Given the description of an element on the screen output the (x, y) to click on. 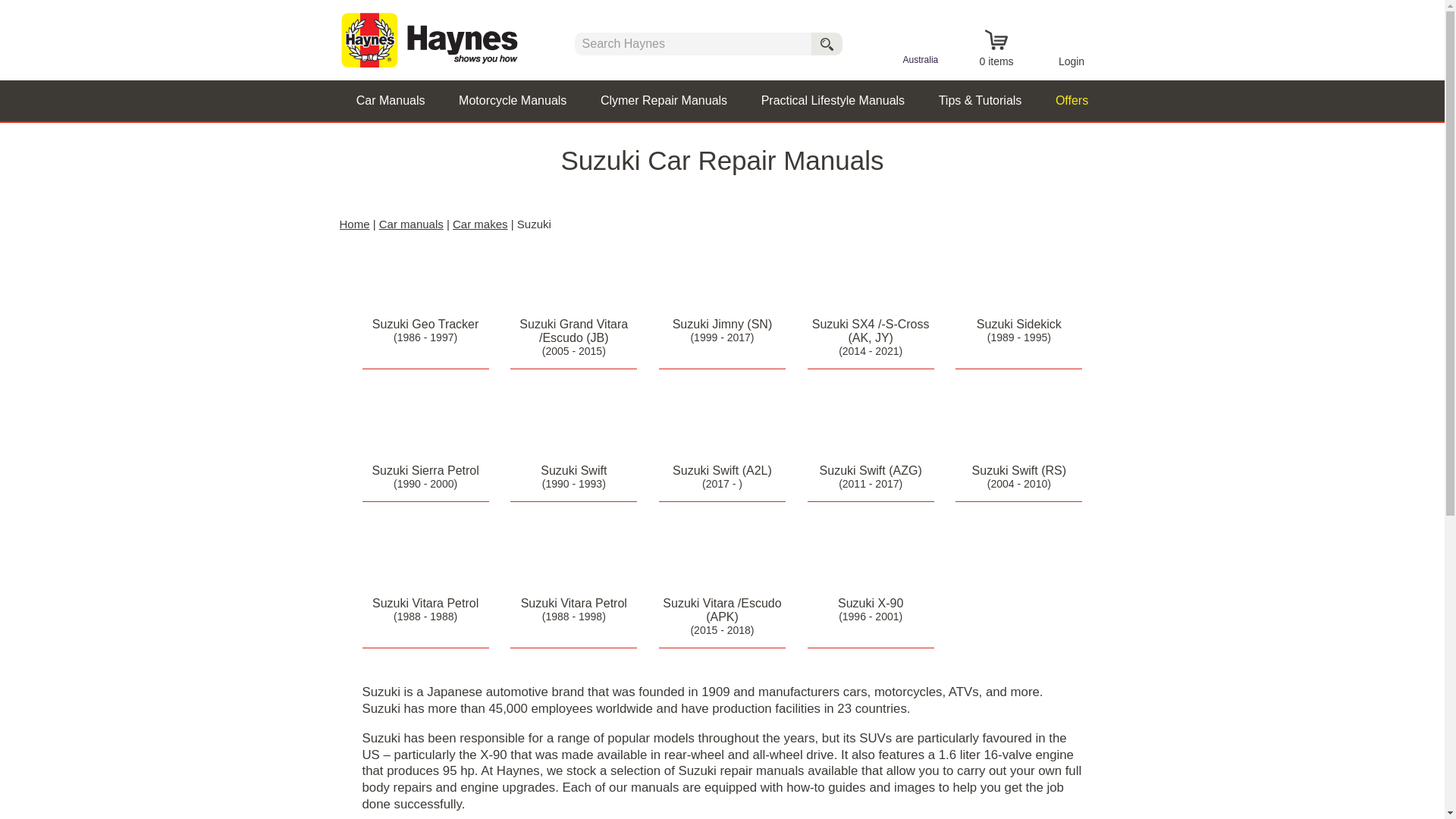
Go to front page (434, 39)
Go to front page (434, 39)
